Given the description of an element on the screen output the (x, y) to click on. 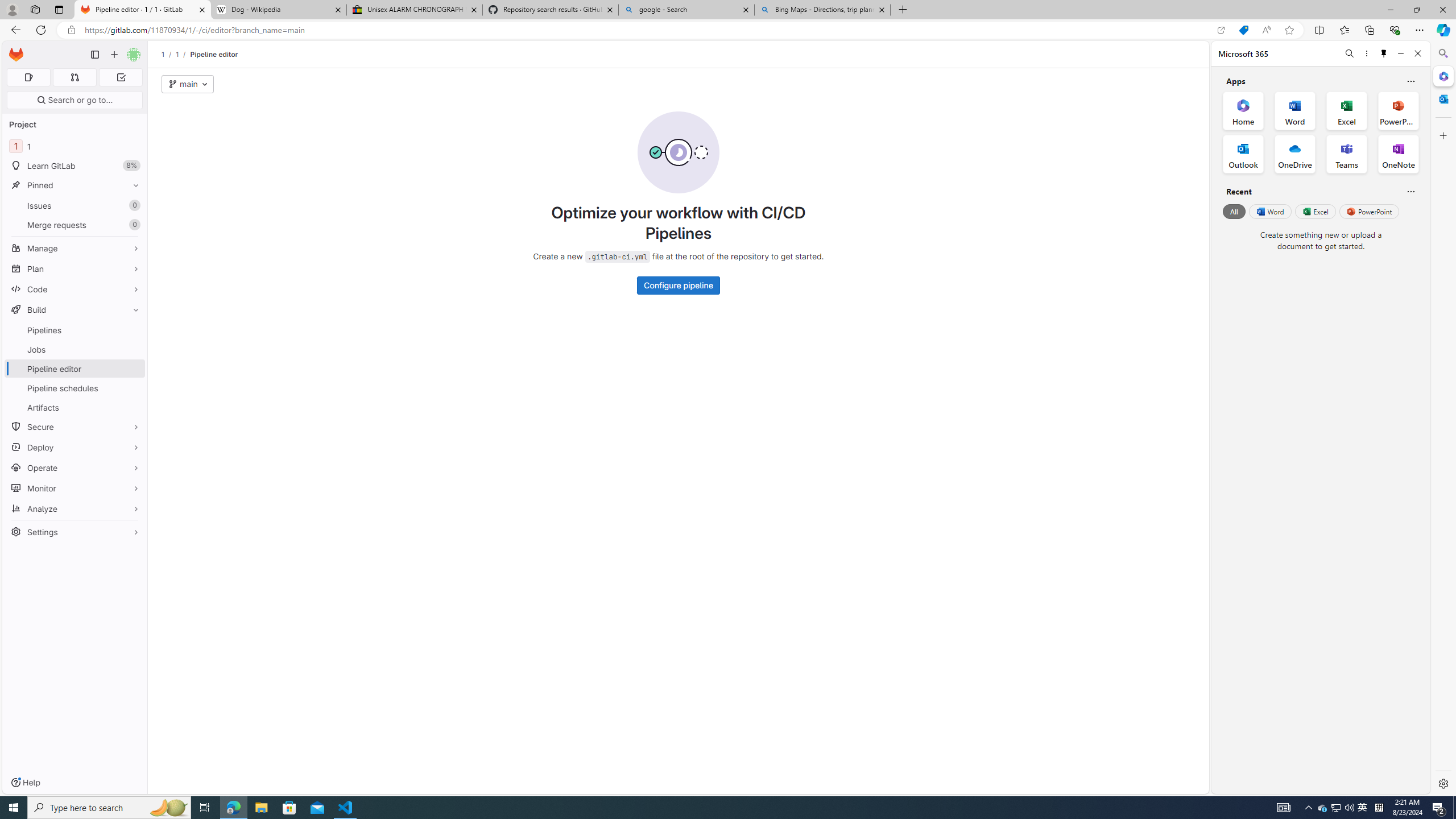
Secure (74, 426)
To-Do list 0 (120, 76)
Pin Jobs (132, 349)
Jobs (74, 348)
Open in app (1220, 29)
Word (1269, 210)
Pipeline editor (213, 53)
